Given the description of an element on the screen output the (x, y) to click on. 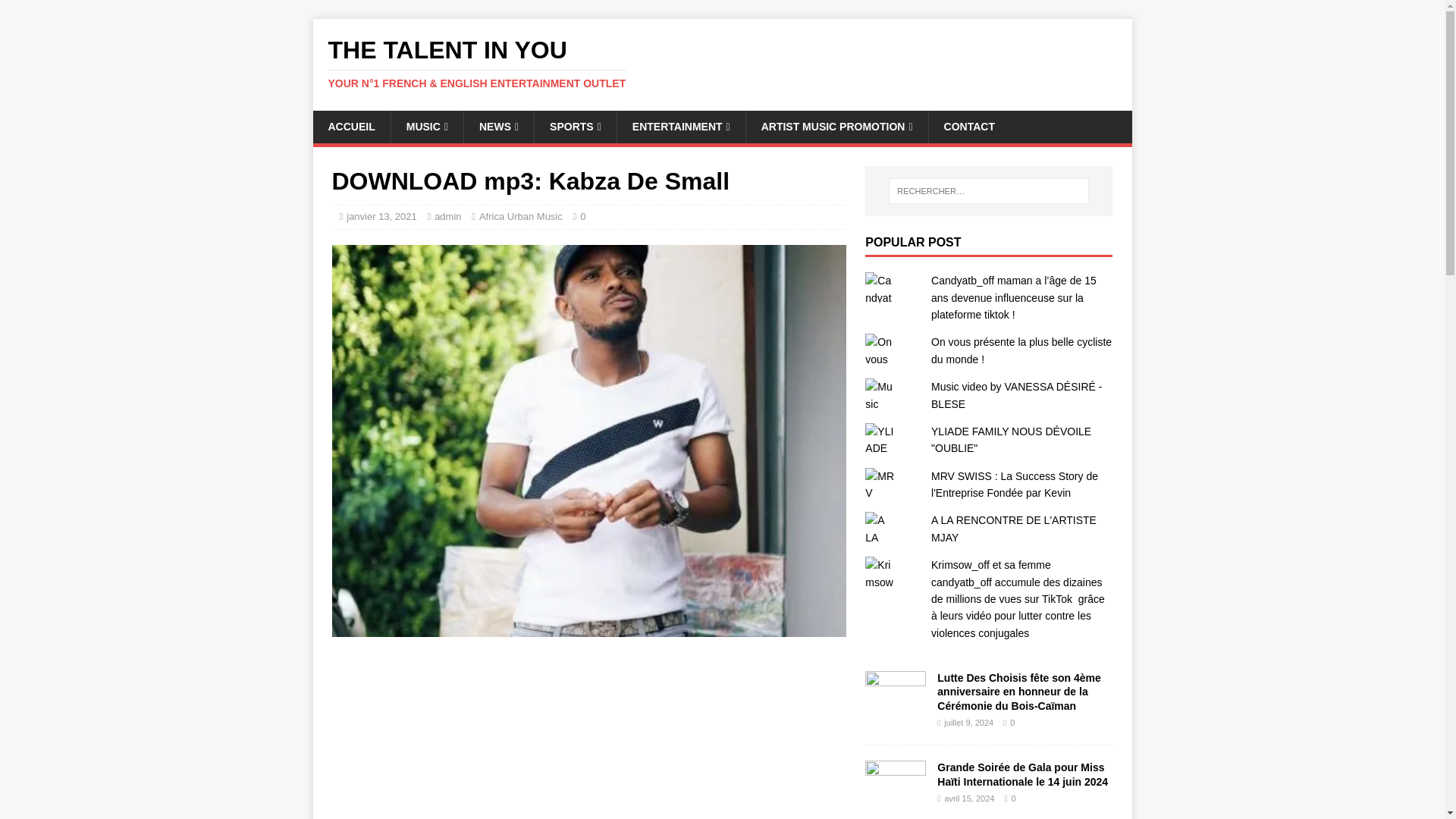
SPORTS (574, 126)
Africa Urban Music (520, 215)
ACCUEIL (351, 126)
ARTIST MUSIC PROMOTION (836, 126)
CONTACT (969, 126)
THE TALENT IN YOU (721, 63)
NEWS (498, 126)
admin (447, 215)
ENTERTAINMENT (680, 126)
MUSIC (426, 126)
janvier 13, 2021 (381, 215)
